Given the description of an element on the screen output the (x, y) to click on. 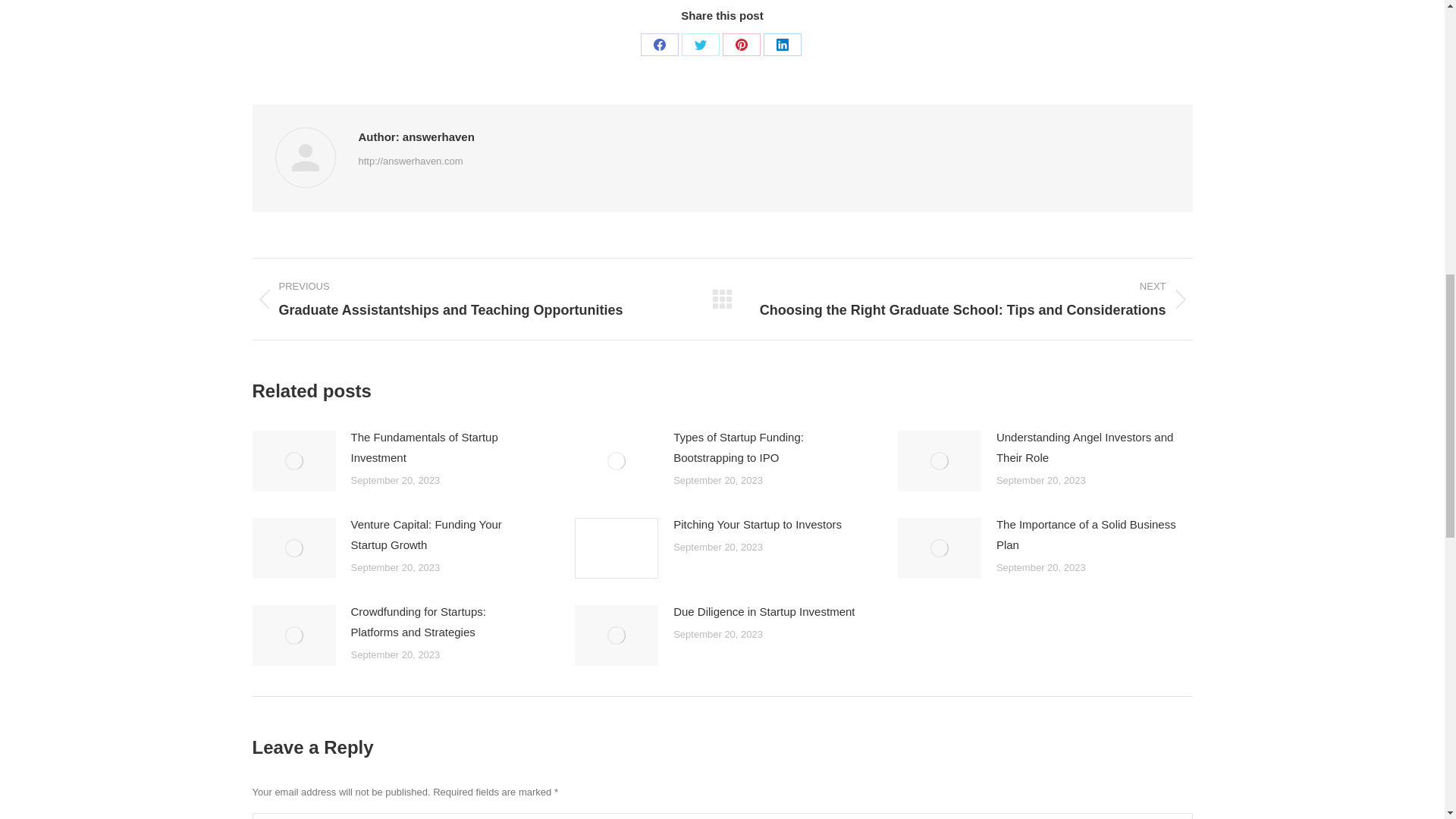
Facebook (659, 44)
Twitter (700, 44)
Share on Facebook (659, 44)
